Given the description of an element on the screen output the (x, y) to click on. 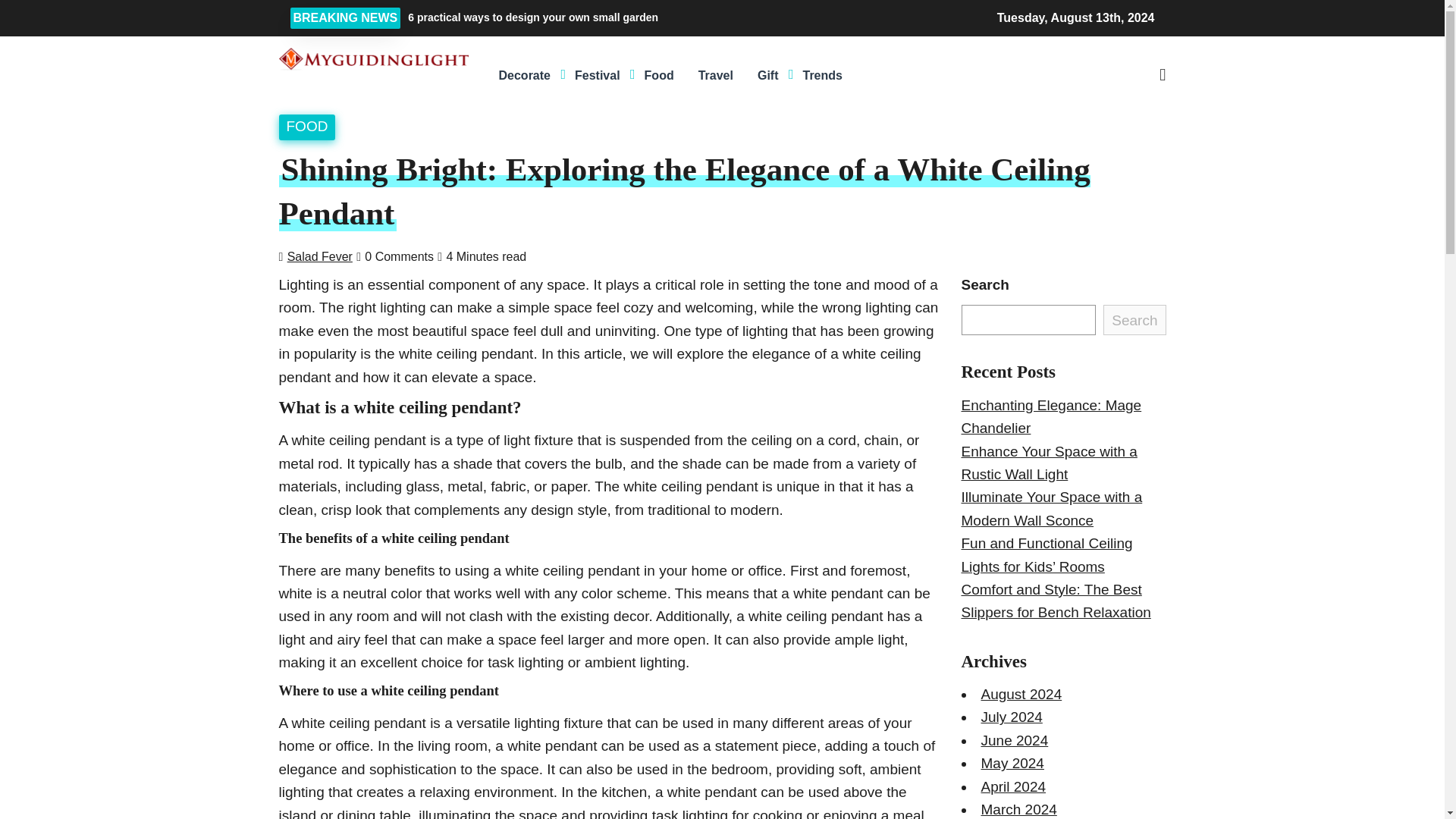
Decorate (524, 75)
6 practical ways to design your own small garden (637, 17)
Travel (715, 75)
Festival (596, 75)
Food (658, 75)
